Given the description of an element on the screen output the (x, y) to click on. 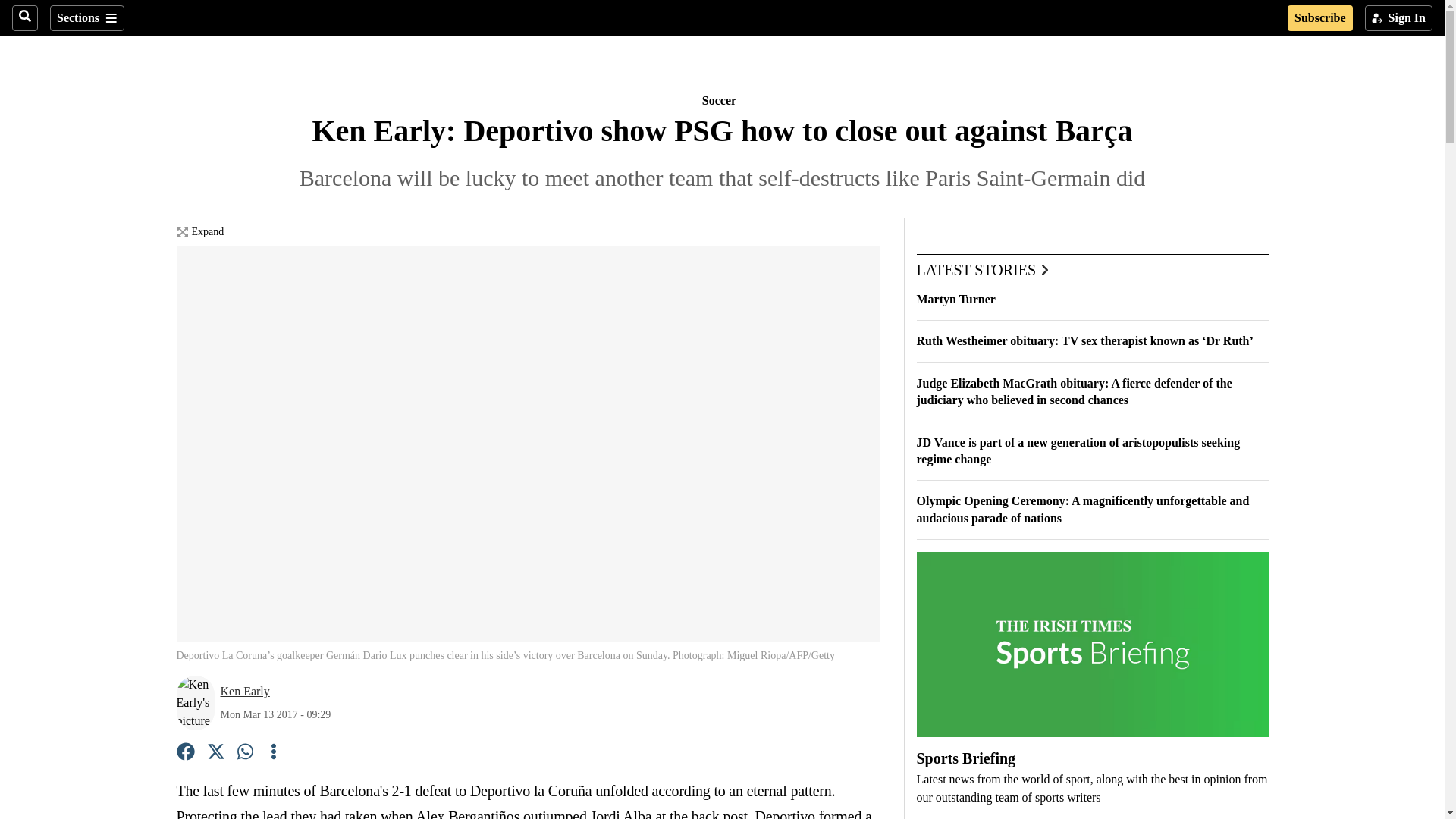
Subscribe (1319, 17)
Sign In (1398, 17)
Sections (86, 17)
